Given the description of an element on the screen output the (x, y) to click on. 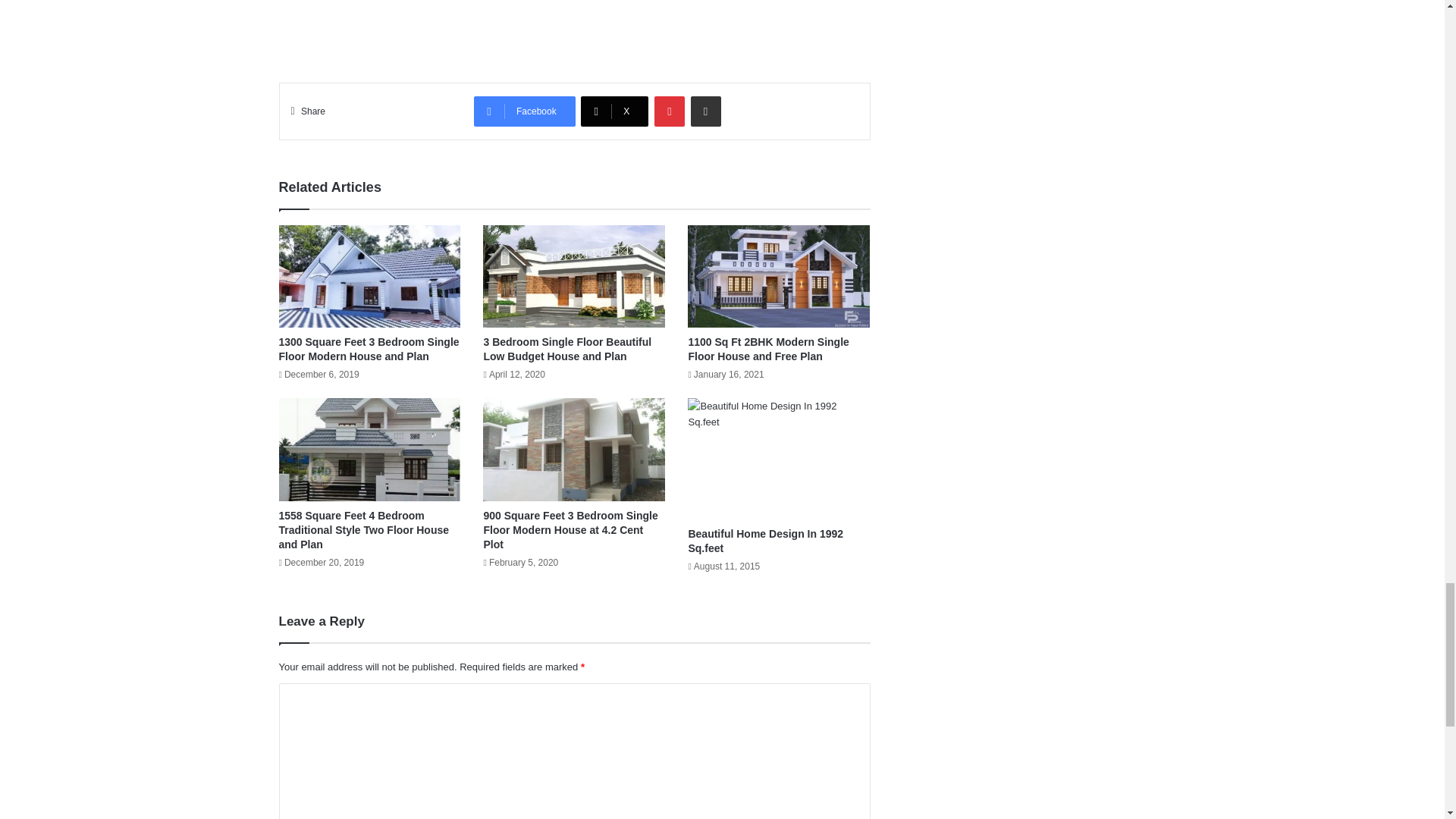
Advertisement (574, 27)
Facebook (524, 111)
Facebook (524, 111)
Share via Email (705, 111)
X (613, 111)
X (613, 111)
Pinterest (668, 111)
Pinterest (668, 111)
